Given the description of an element on the screen output the (x, y) to click on. 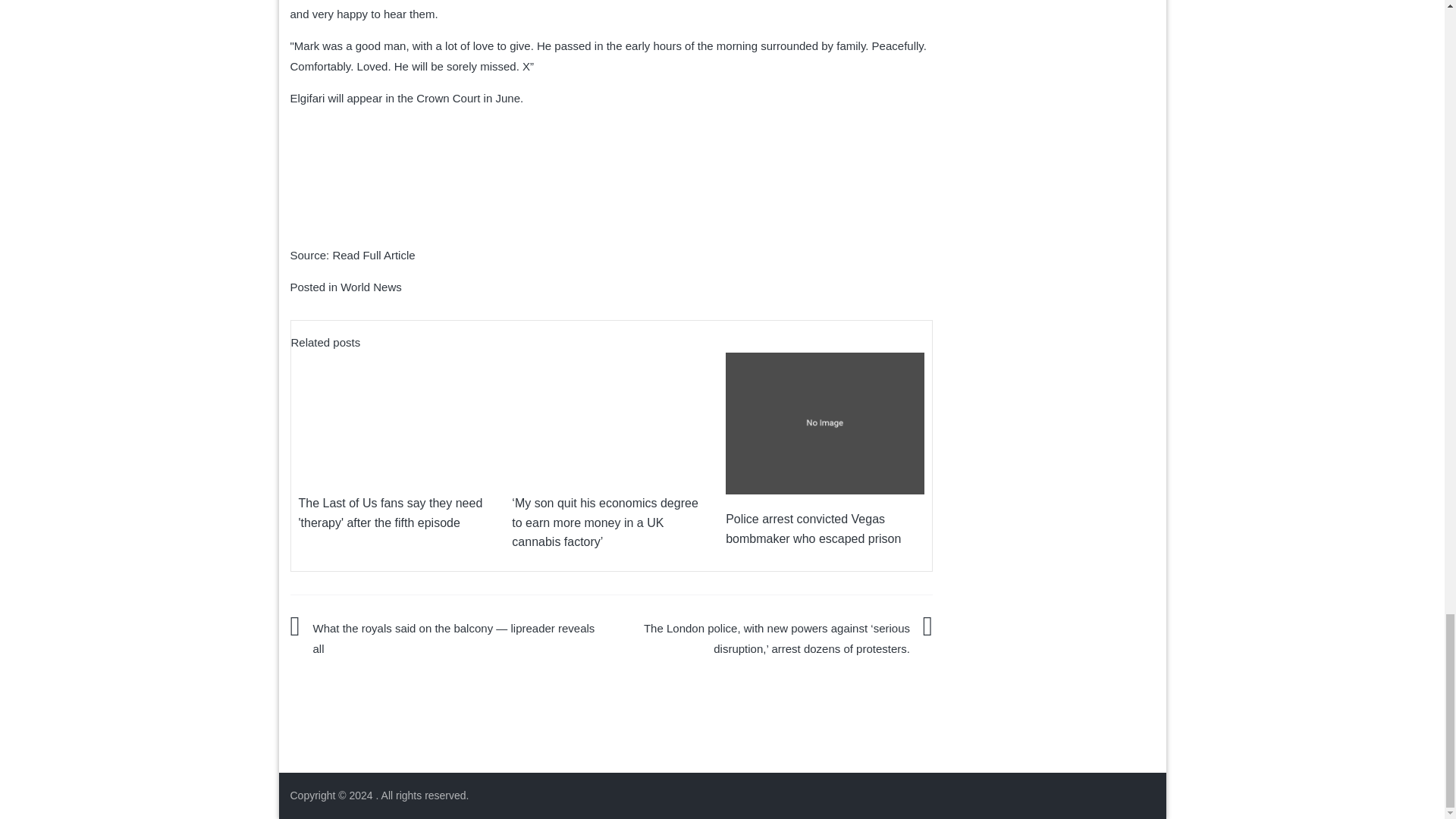
Read Full Article (372, 254)
World News (370, 286)
Police arrest convicted Vegas bombmaker who escaped prison (813, 528)
